Given the description of an element on the screen output the (x, y) to click on. 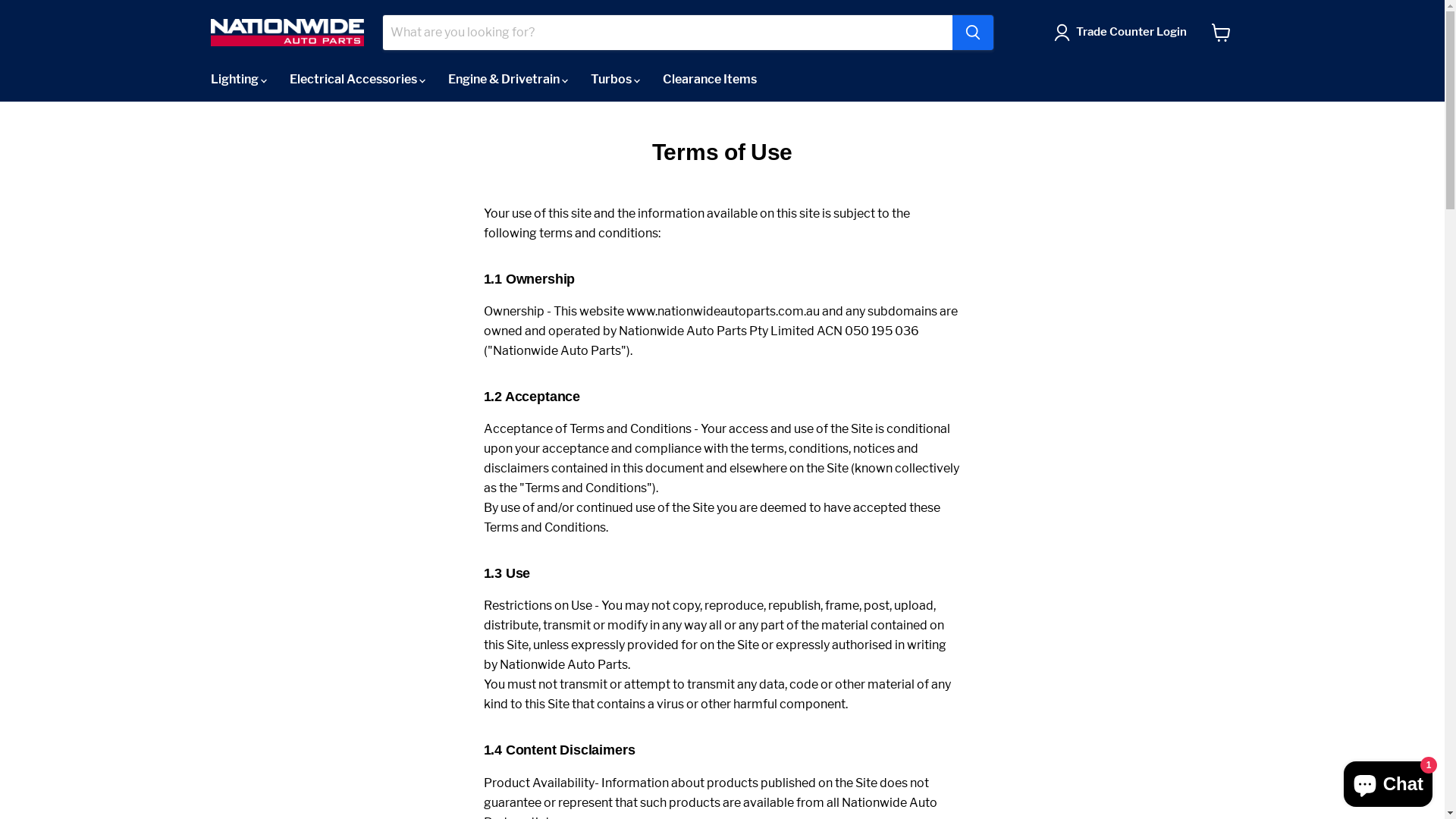
View cart Element type: text (1221, 32)
Trade Counter Login Element type: text (1130, 32)
Turbos Element type: text (615, 79)
Engine & Drivetrain Element type: text (507, 79)
Clearance Items Element type: text (708, 79)
Lighting Element type: text (237, 79)
Electrical Accessories Element type: text (356, 79)
Shopify online store chat Element type: hover (1388, 780)
